Given the description of an element on the screen output the (x, y) to click on. 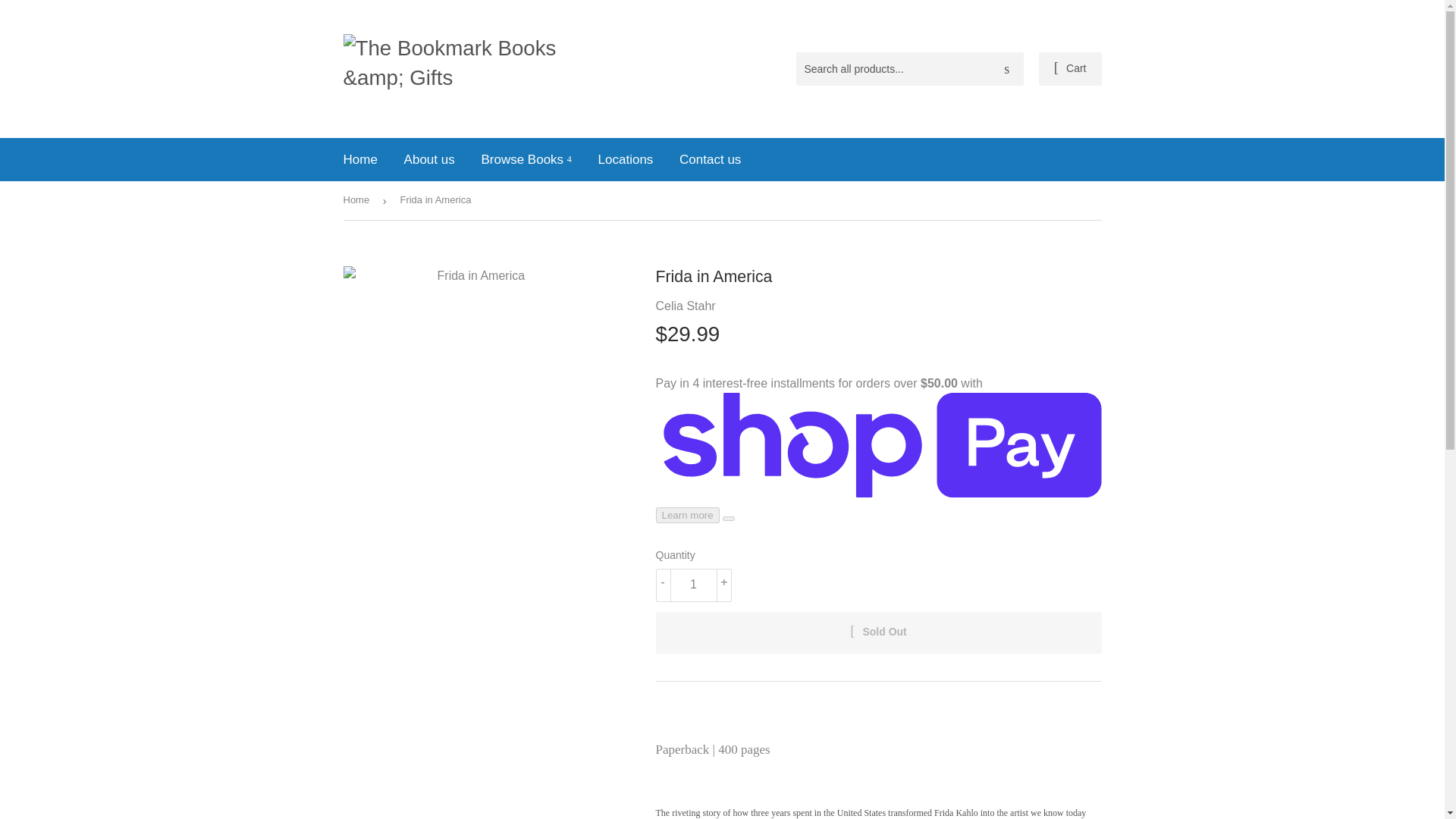
Browse Books (525, 159)
1 (692, 584)
Home (359, 159)
Cart (1070, 68)
About us (429, 159)
Search (1006, 69)
